Given the description of an element on the screen output the (x, y) to click on. 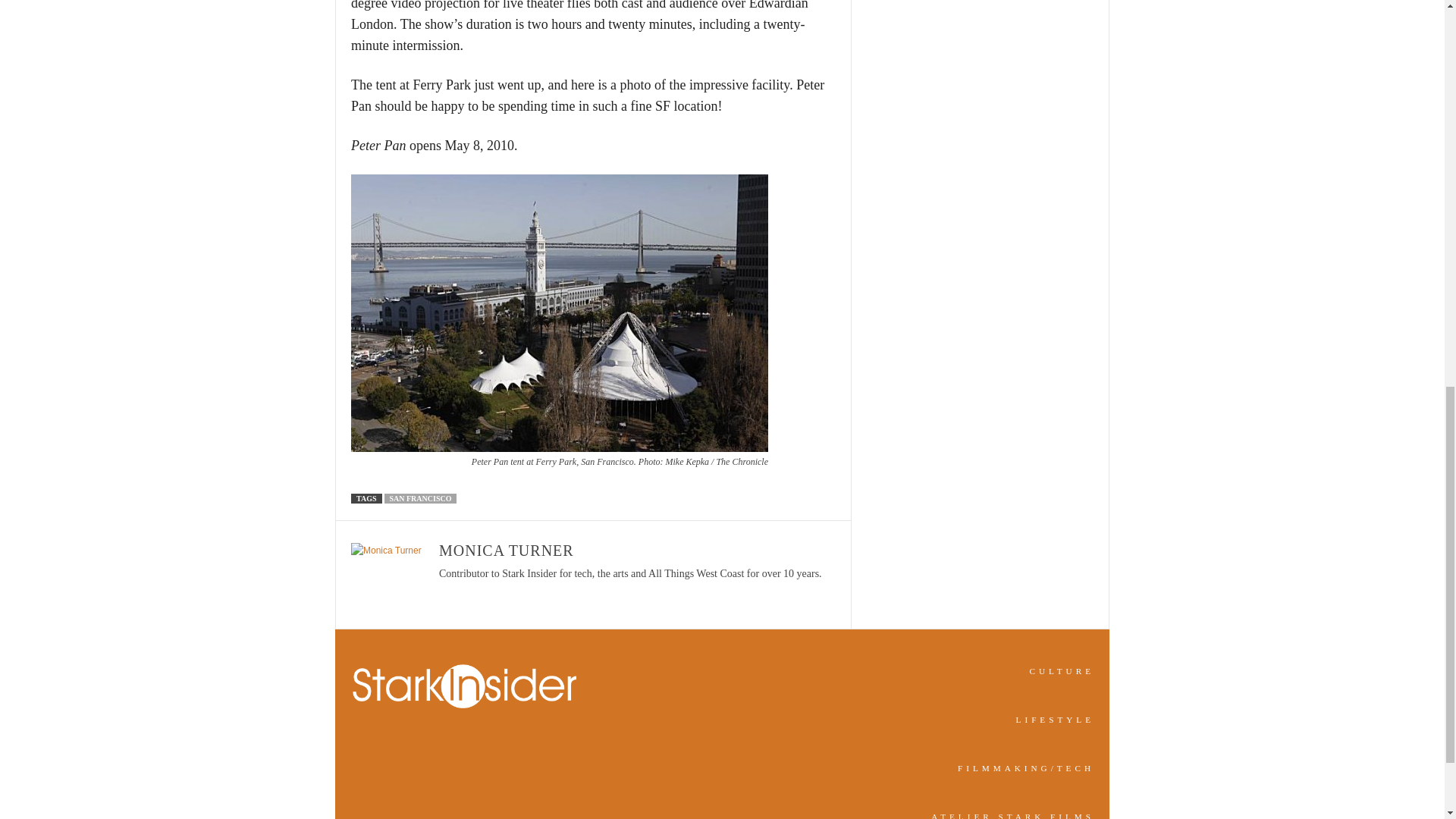
MONICA TURNER (506, 550)
LIFESTYLE (1055, 718)
SAN FRANCISCO (420, 498)
ATELIER STARK FILMS (1012, 815)
CULTURE (1061, 670)
Peter-Pan-Tent (559, 313)
